Given the description of an element on the screen output the (x, y) to click on. 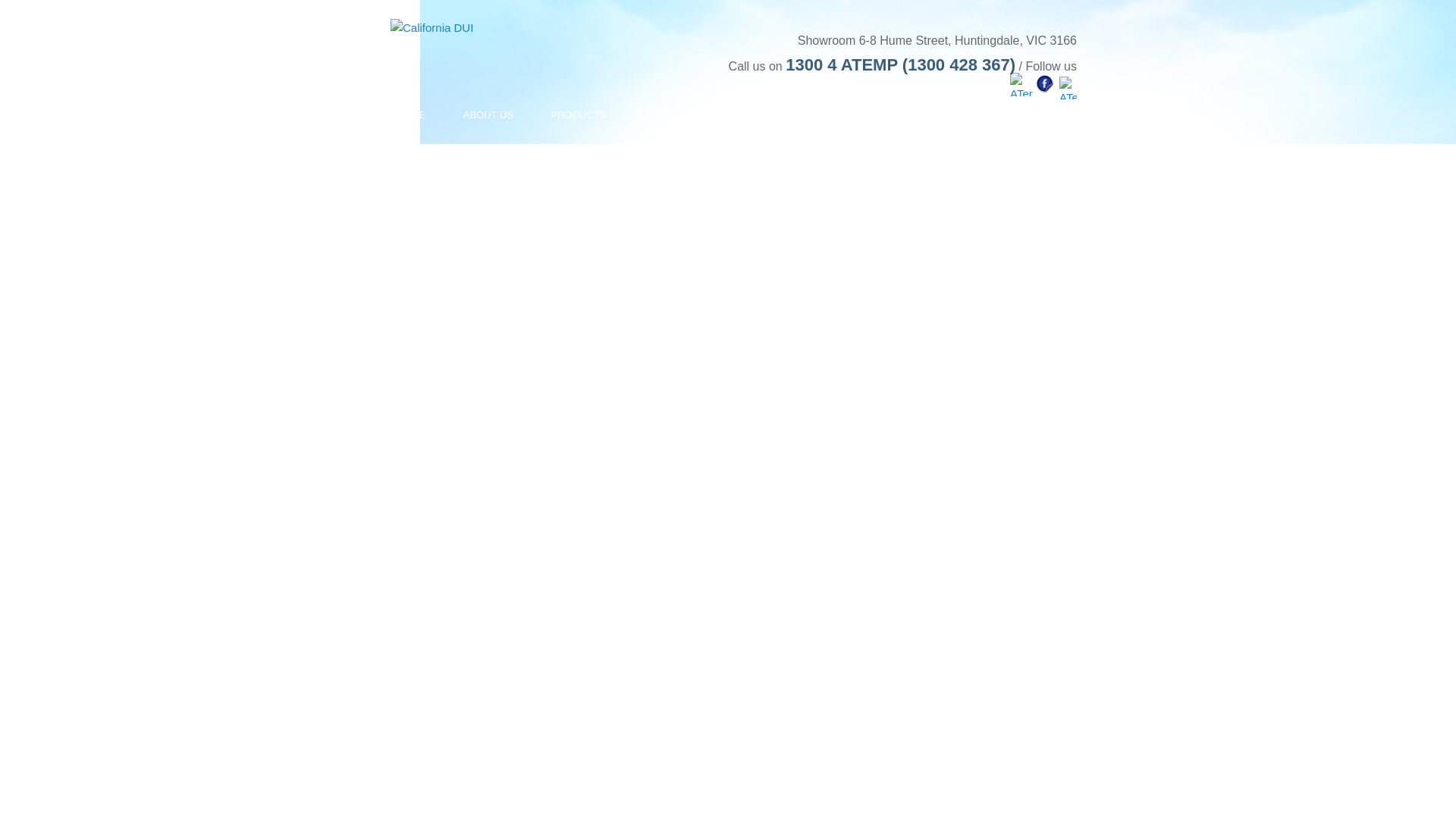
ABOUT US (480, 114)
Skip to secondary content (444, 110)
Skip to primary content (436, 110)
Skip to primary content (436, 110)
Skip to secondary content (444, 110)
HOME (403, 114)
PRODUCTS (570, 114)
